Given the description of an element on the screen output the (x, y) to click on. 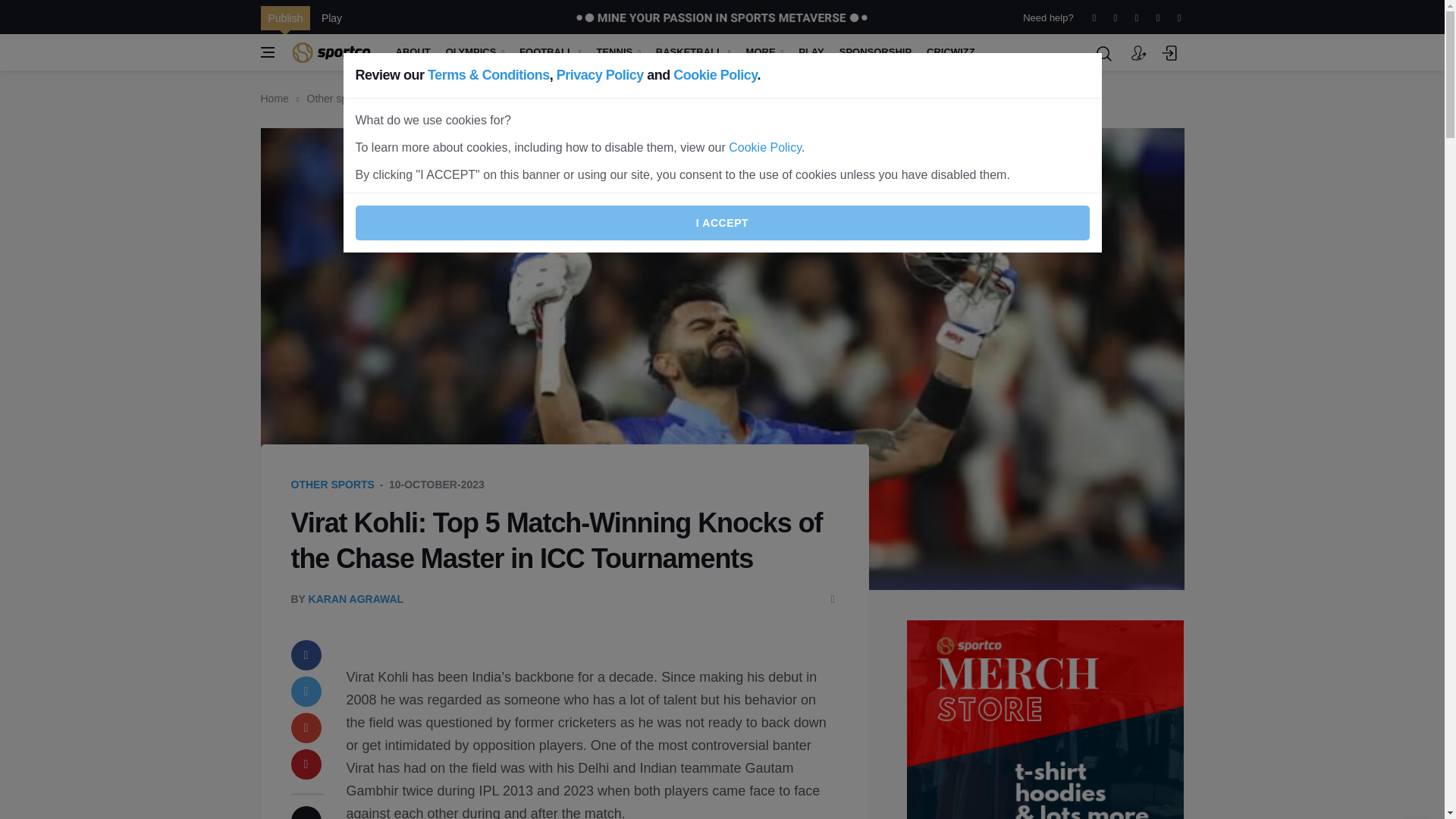
i accept (722, 222)
pinterest (306, 764)
google (306, 727)
Favorite (306, 812)
Need help? (1047, 17)
Play (331, 17)
facebook (306, 654)
twitter (306, 691)
Publish (285, 17)
